Given the description of an element on the screen output the (x, y) to click on. 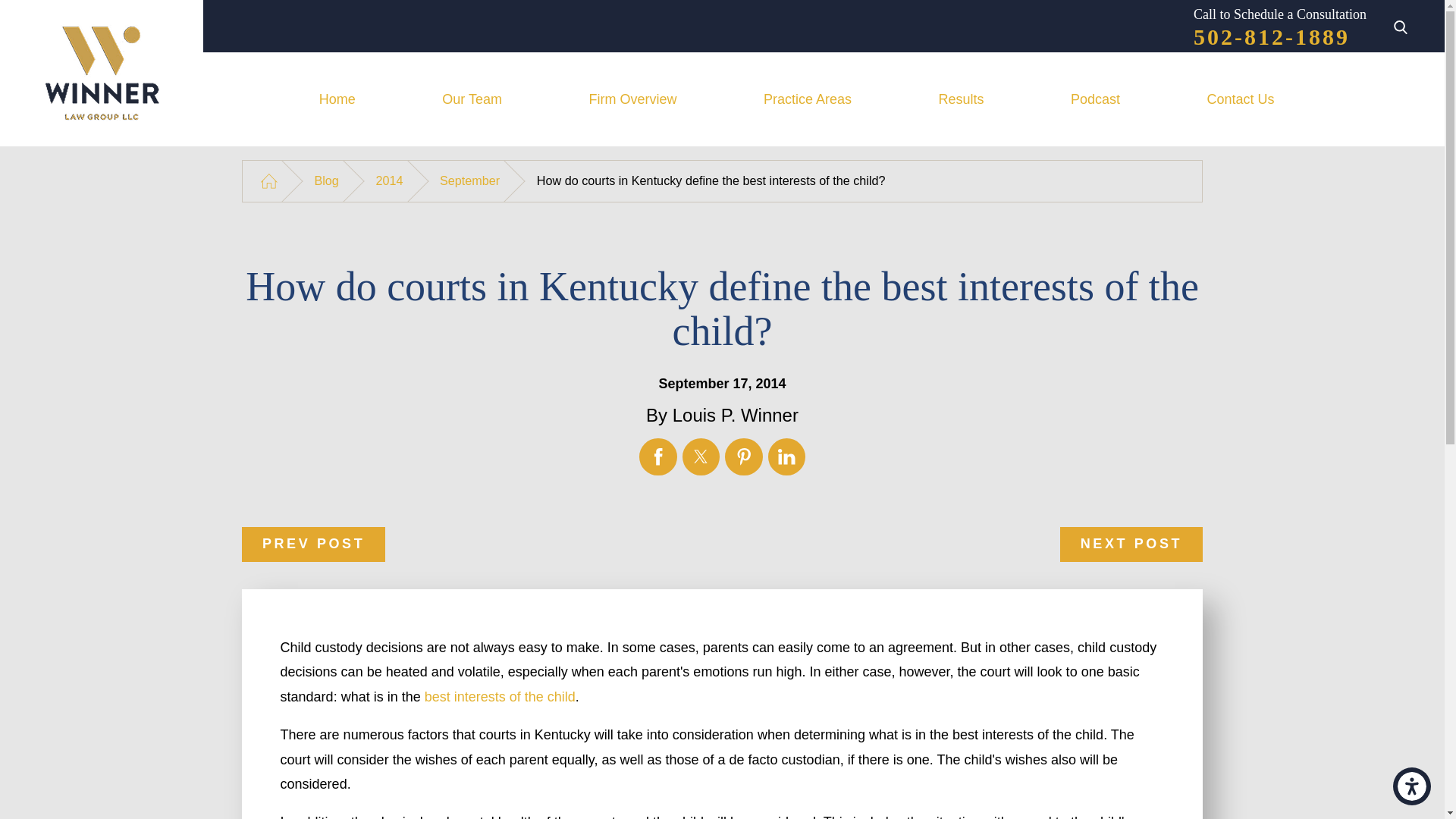
502-812-1889 (1271, 36)
Home (337, 99)
Our Team (471, 99)
Results (961, 99)
Search Our Site (1400, 29)
Open the accessibility options menu (1412, 786)
Search Icon (1400, 27)
Go Home (269, 180)
Practice Areas (807, 99)
Contact Us (1240, 99)
Firm Overview (631, 99)
Podcast (1095, 99)
Winner Law Group, LLC (101, 72)
